Given the description of an element on the screen output the (x, y) to click on. 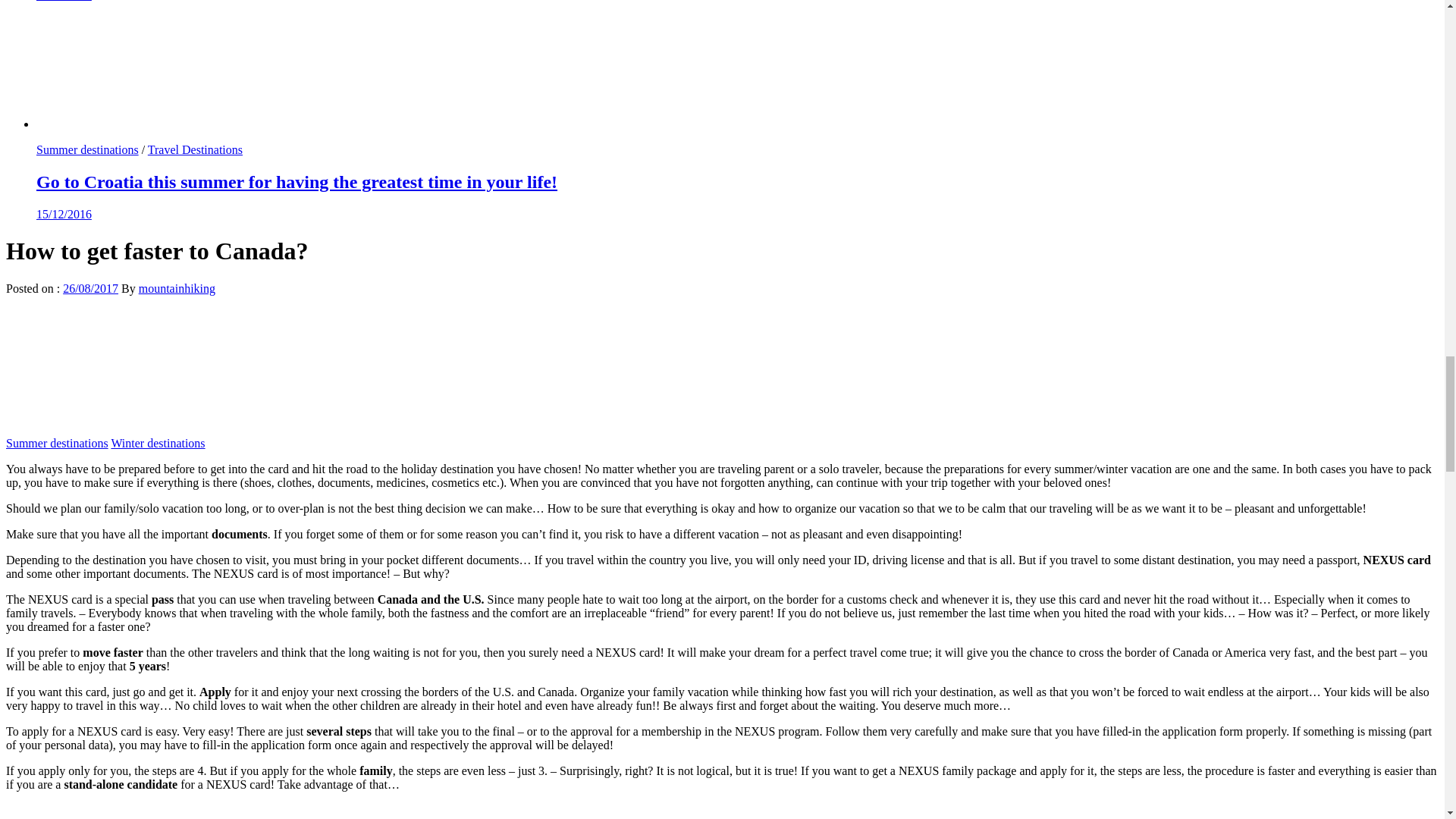
Posts by mountainhiking (176, 287)
